Given the description of an element on the screen output the (x, y) to click on. 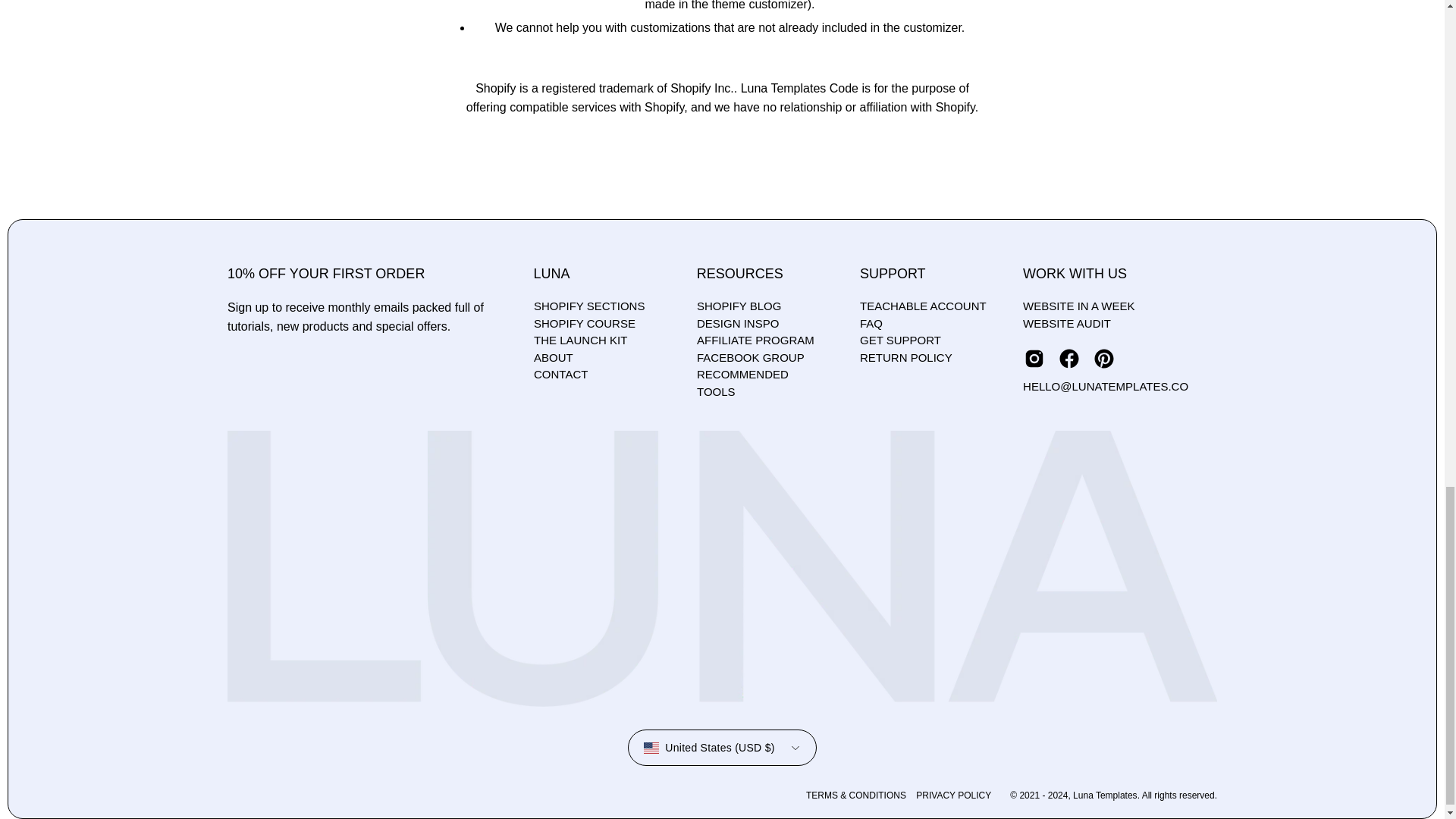
View Luna Templates on Facebook (1069, 358)
View Luna Templates on Instagram (1034, 358)
View Luna Templates on Pinterest (1104, 358)
